Given the description of an element on the screen output the (x, y) to click on. 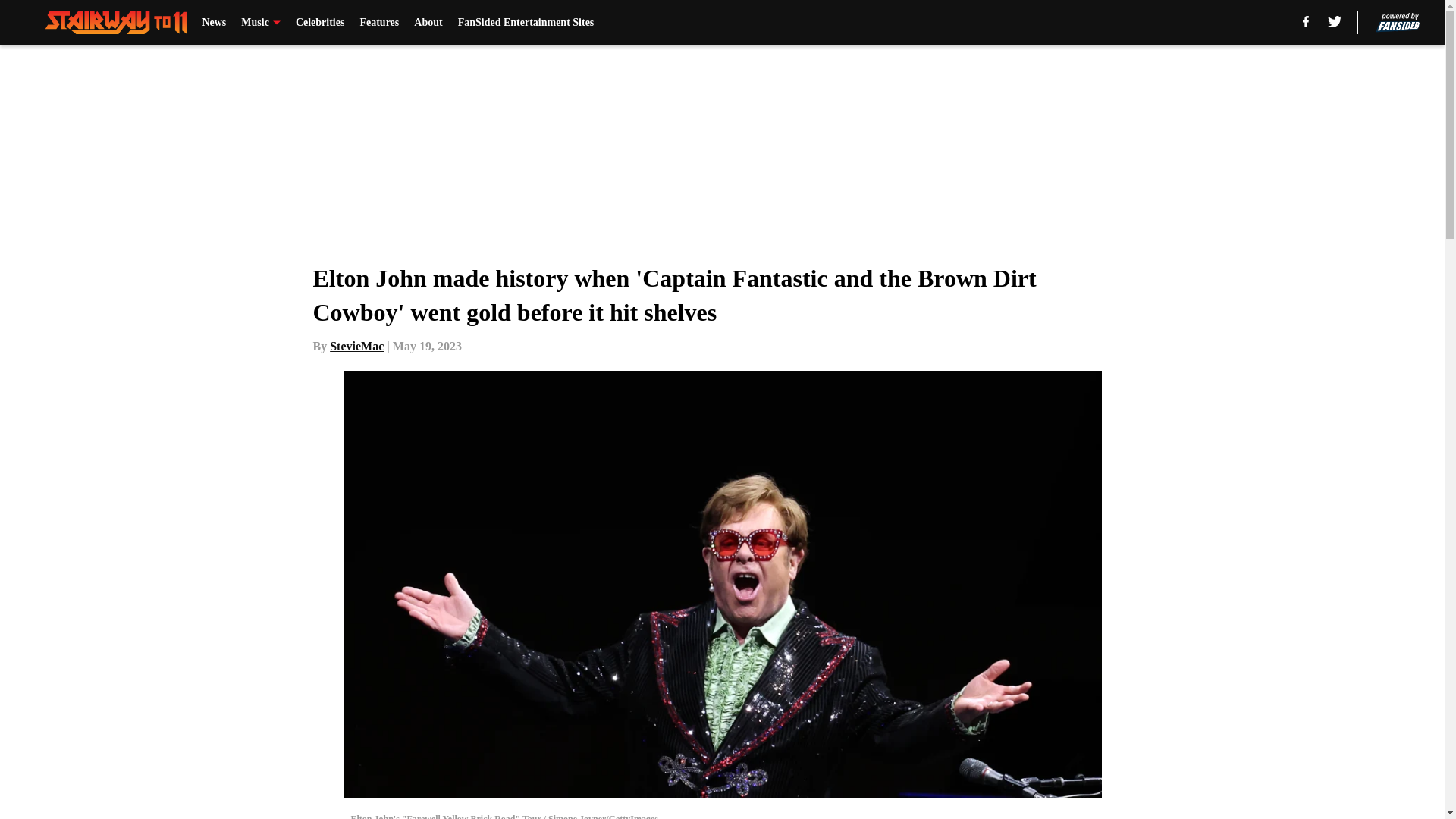
News (213, 22)
Features (378, 22)
About (427, 22)
Celebrities (320, 22)
FanSided Entertainment Sites (526, 22)
StevieMac (357, 345)
Music (261, 22)
